Given the description of an element on the screen output the (x, y) to click on. 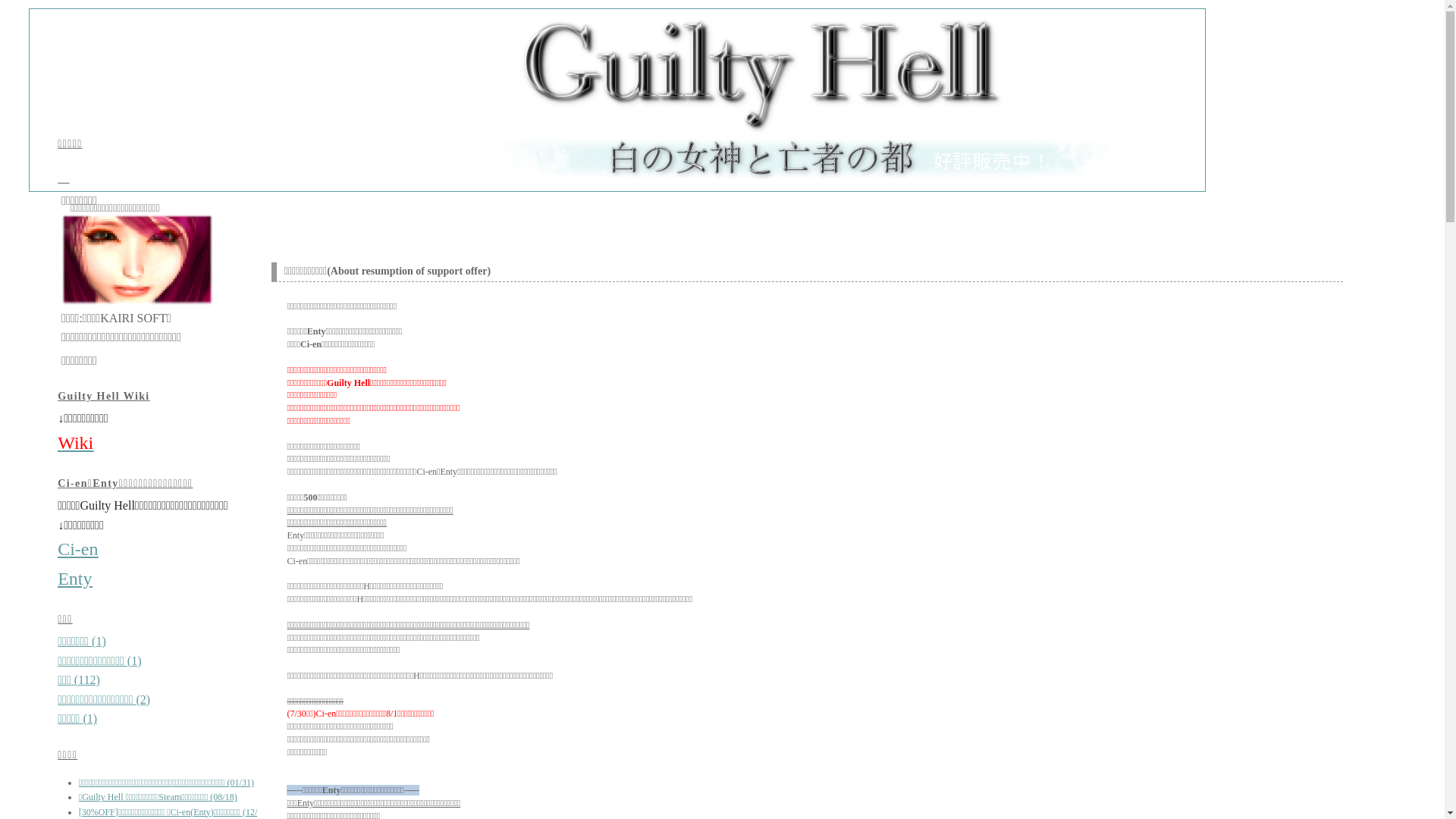
Wiki Element type: text (75, 442)
Ci-en Element type: text (77, 548)
Enty Element type: text (74, 578)
